Given the description of an element on the screen output the (x, y) to click on. 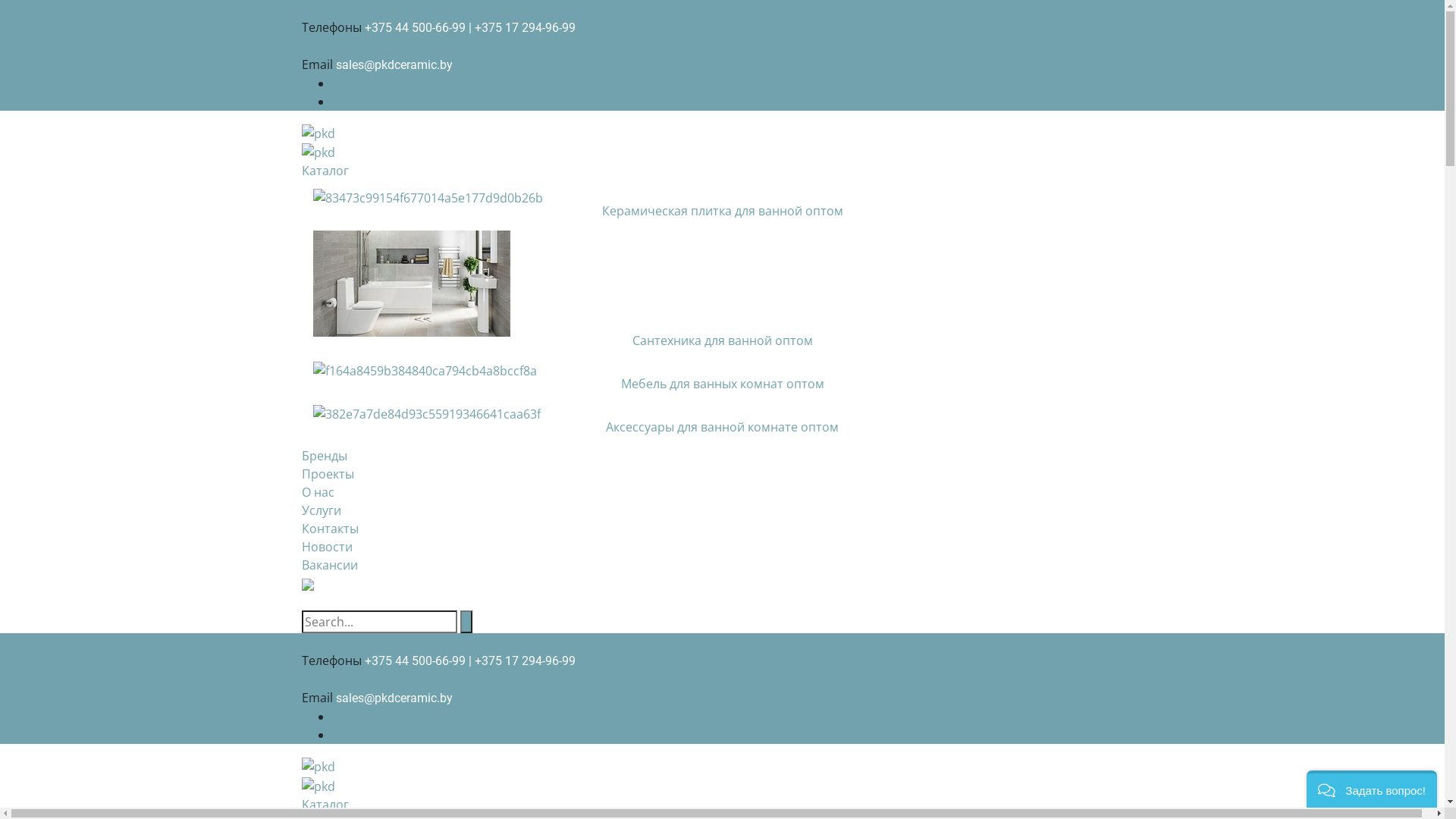
c512c271d19e02f490ea63d8a9b2802e Element type: hover (410, 283)
83473c99154f677014a5e177d9d0b26b Element type: hover (427, 197)
sales@pkdceramic.by Element type: text (393, 64)
+375 44 500-66-99 Element type: text (414, 660)
382e7a7de84d93c55919346641caa63f Element type: hover (425, 413)
sales@pkdceramic.by Element type: text (393, 697)
| +375 17 294-96-99 Element type: text (521, 27)
f164a8459b384840ca794cb4a8bccf8a Element type: hover (424, 370)
| +375 17 294-96-99 Element type: text (521, 660)
+375 44 500-66-99 Element type: text (414, 27)
